Given the description of an element on the screen output the (x, y) to click on. 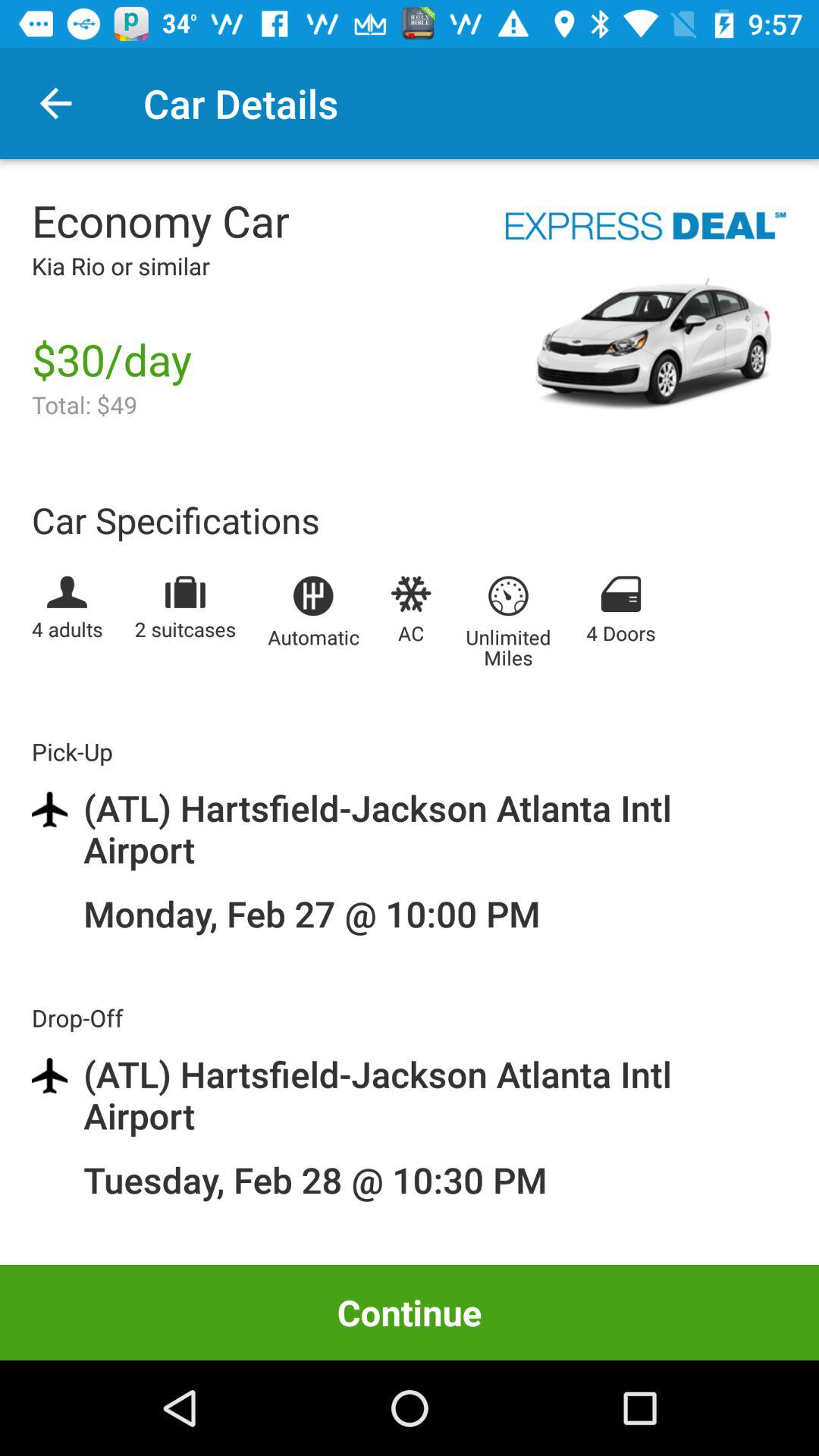
swipe until the continue item (409, 1312)
